Given the description of an element on the screen output the (x, y) to click on. 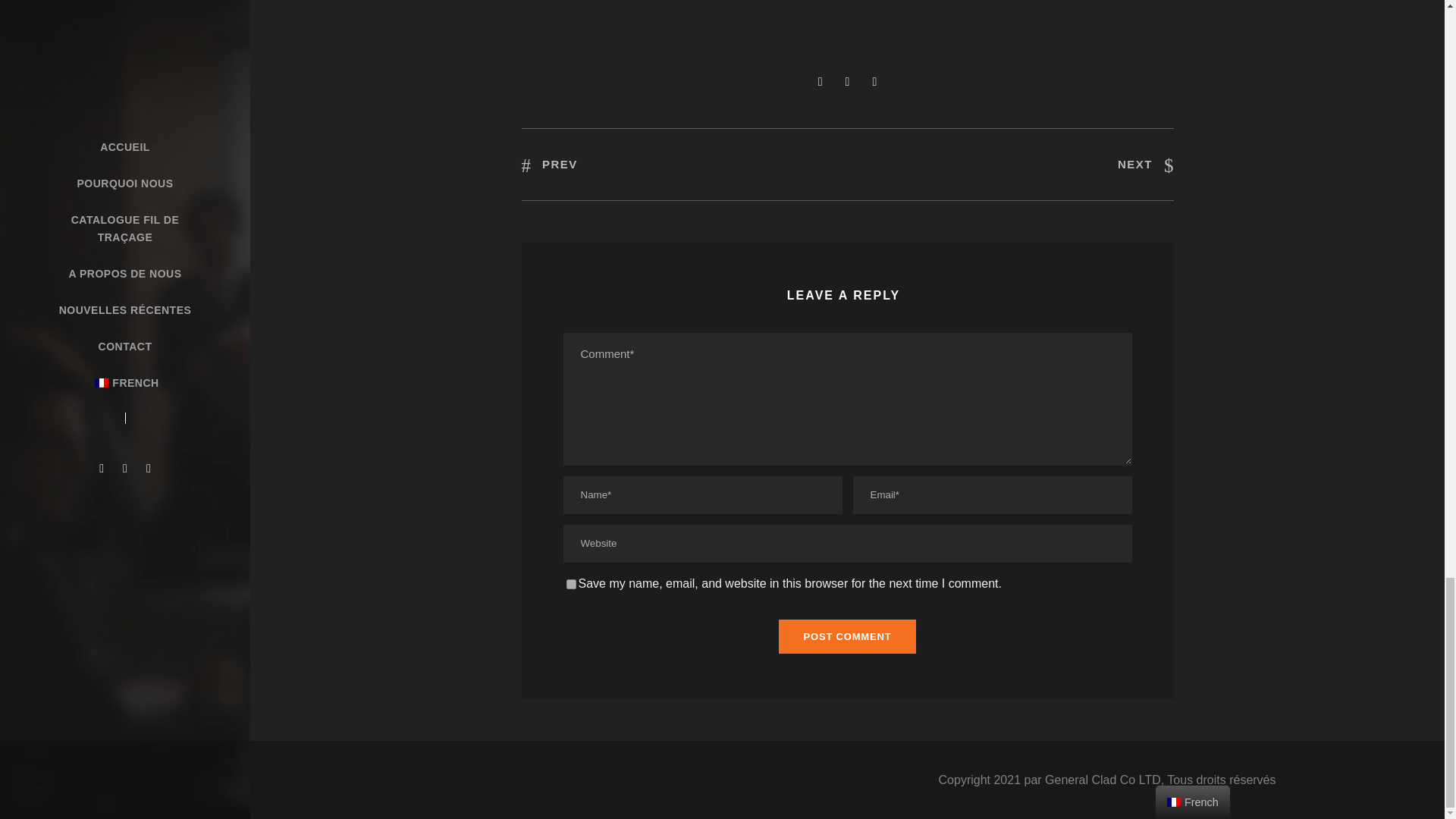
NEXT (1145, 164)
yes (570, 583)
Post Comment (847, 636)
Post Comment (847, 636)
PREV (549, 164)
